Given the description of an element on the screen output the (x, y) to click on. 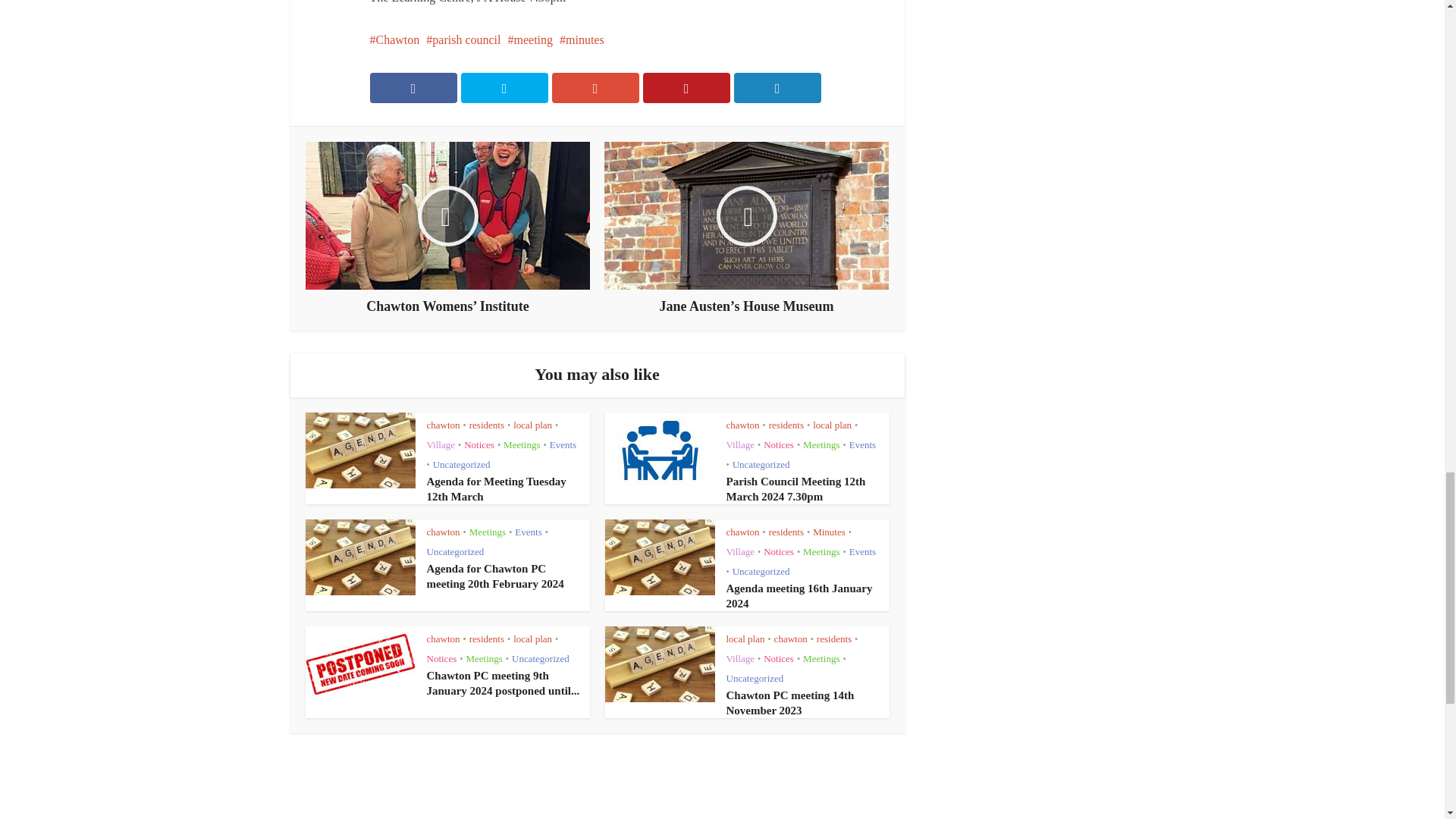
Agenda for Chawton PC meeting 20th February 2024 (494, 575)
Chawton (394, 39)
meeting (529, 39)
chawton (443, 424)
Village (440, 444)
Chawton PC meeting 14th November 2023 (790, 702)
minutes (581, 39)
Parish Council Meeting 12th March 2024 7.30pm (796, 488)
Uncategorized (461, 464)
Agenda meeting 16th January 2024 (799, 595)
